Given the description of an element on the screen output the (x, y) to click on. 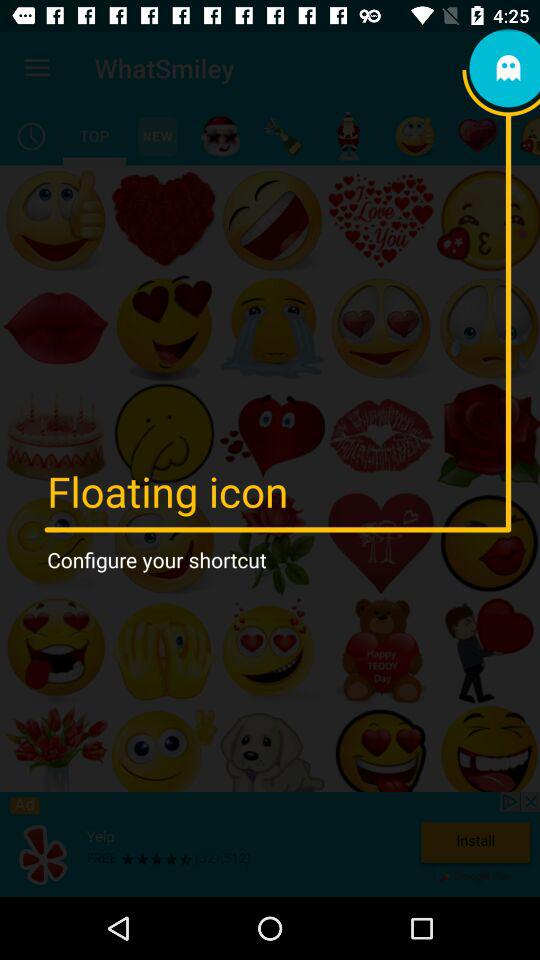
select an emoticon type (477, 136)
